Given the description of an element on the screen output the (x, y) to click on. 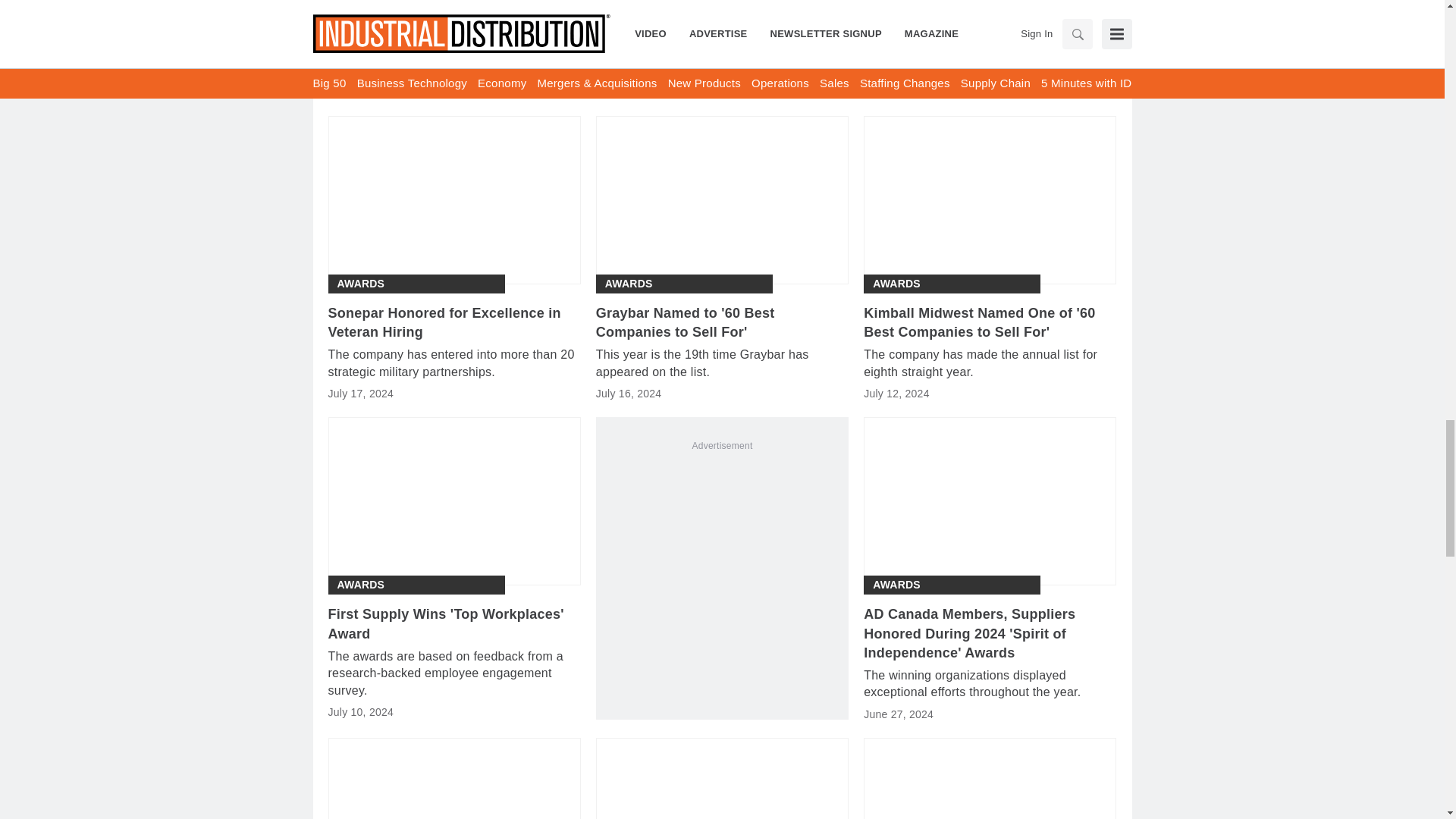
Awards (360, 283)
Awards (628, 283)
